Given the description of an element on the screen output the (x, y) to click on. 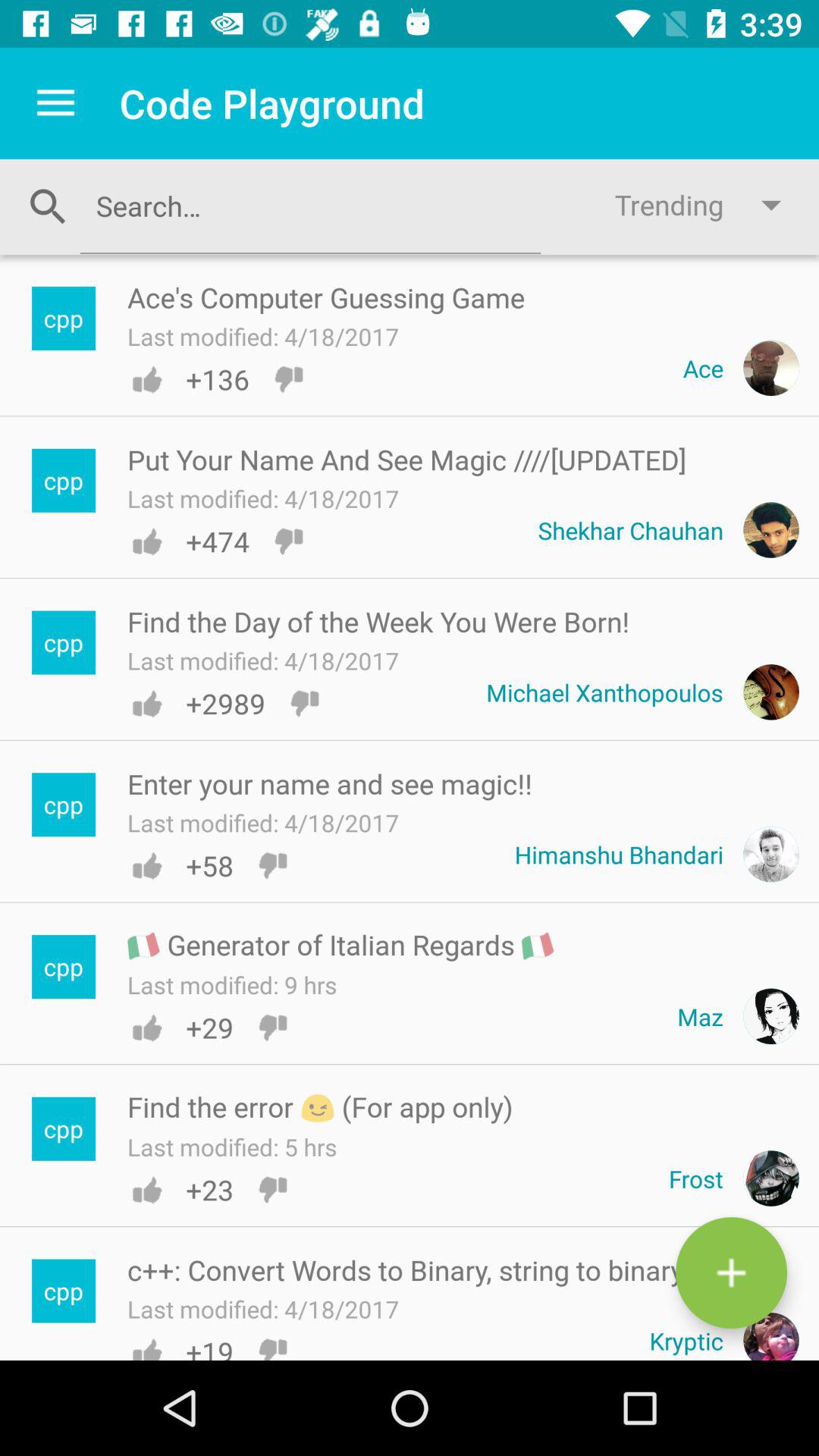
add code (731, 1272)
